Given the description of an element on the screen output the (x, y) to click on. 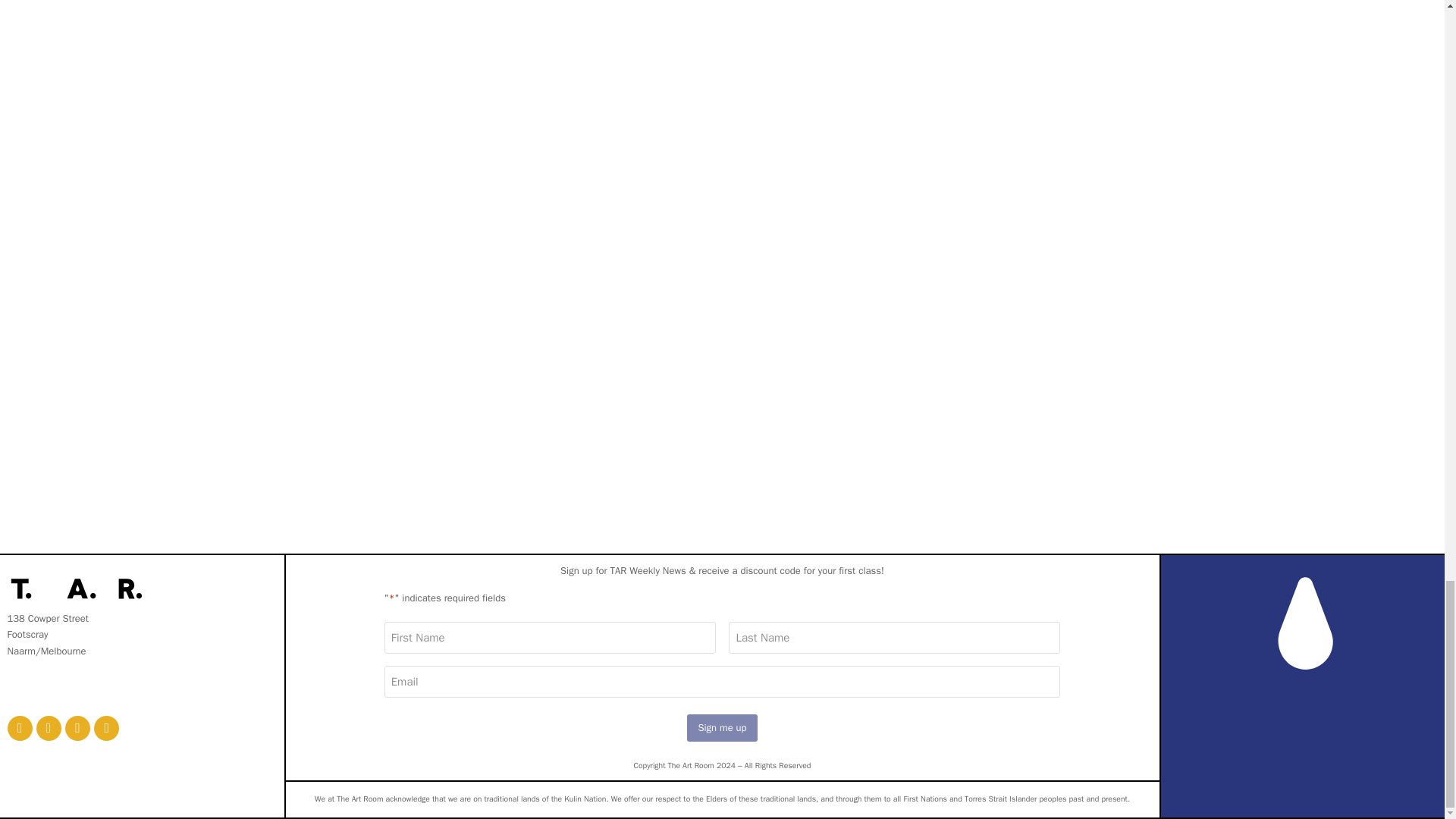
Sign me up (722, 727)
YouTube (106, 728)
Email (19, 728)
Facebook (77, 728)
Instagram (48, 728)
